Given the description of an element on the screen output the (x, y) to click on. 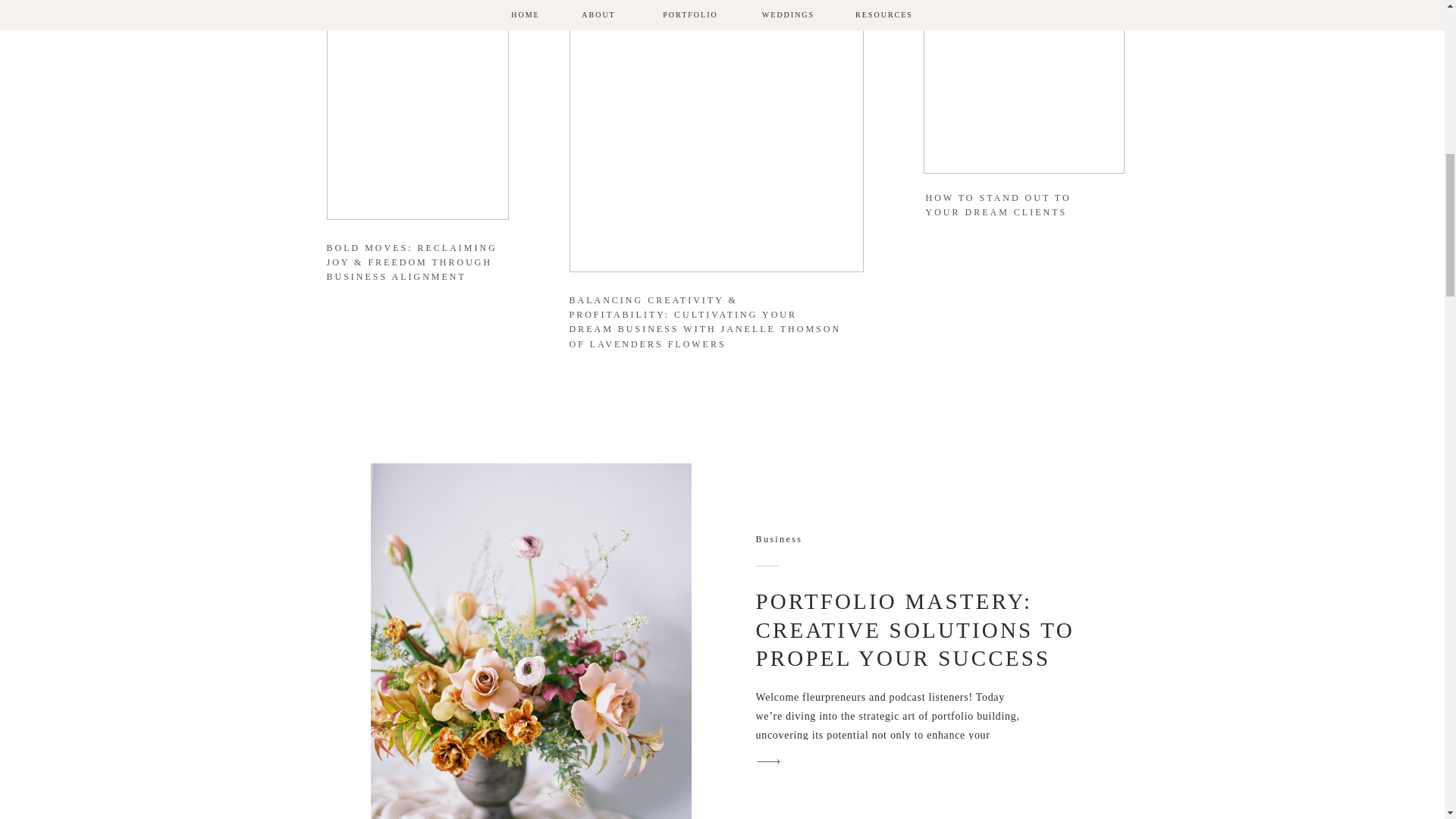
Portfolio Mastery: Creative Solutions to Propel Your Success (768, 762)
Portfolio Mastery: Creative Solutions to Propel Your Success (529, 641)
arrow (768, 762)
arrow (1104, 271)
